Given the description of an element on the screen output the (x, y) to click on. 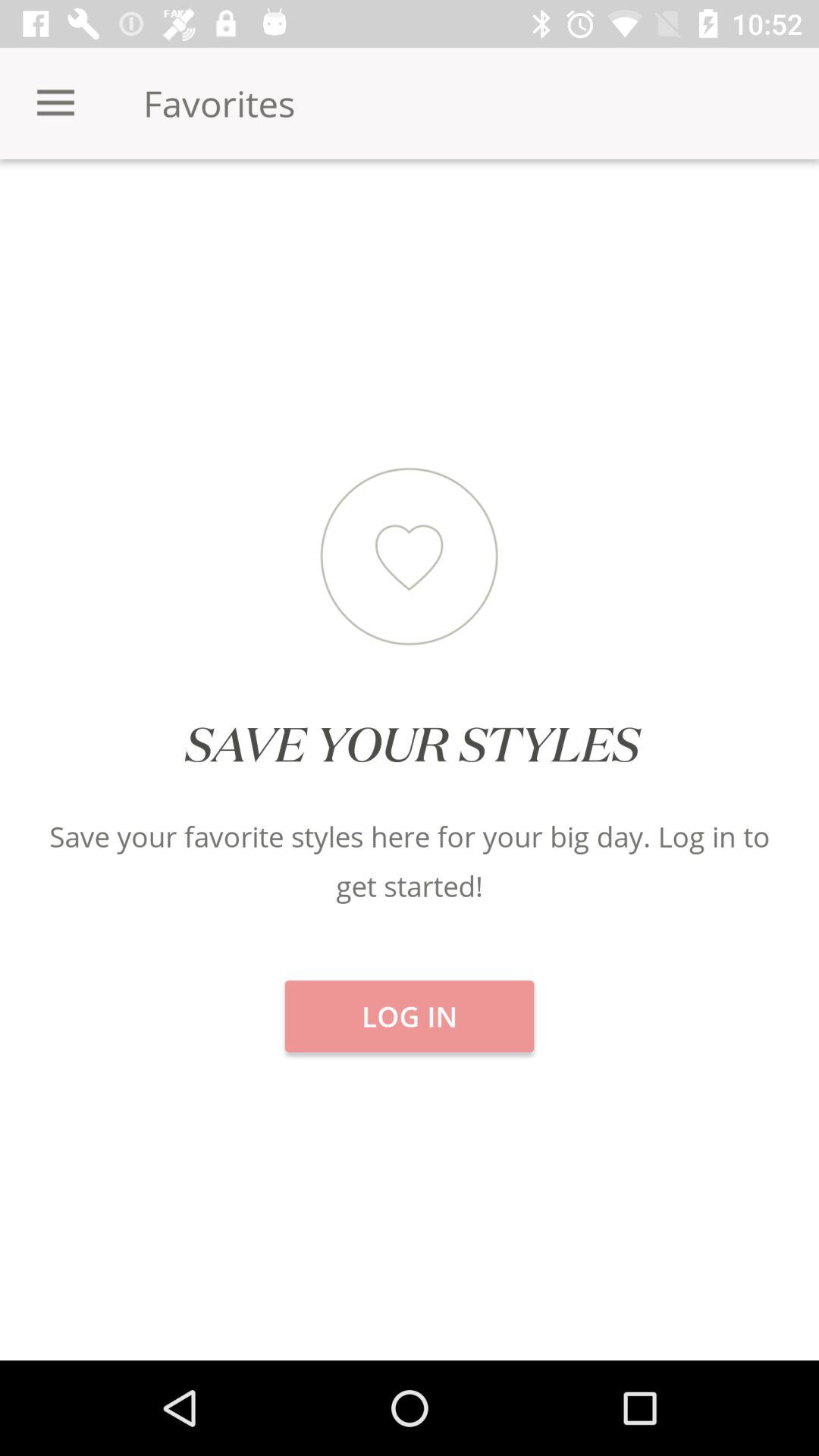
open the item below favorites icon (409, 212)
